Given the description of an element on the screen output the (x, y) to click on. 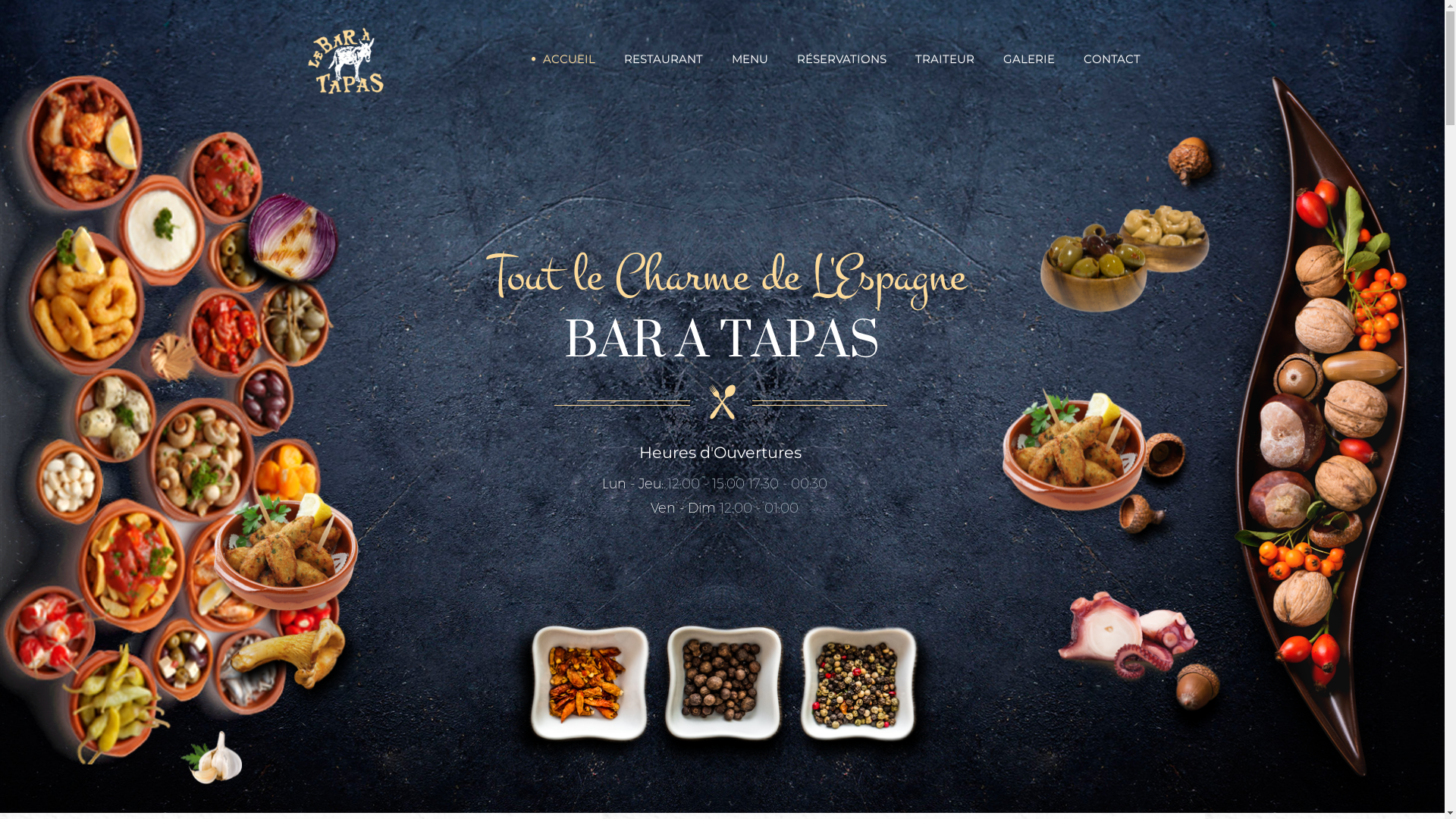
MENU Element type: text (749, 58)
CONTACT Element type: text (1111, 58)
RESTAURANT Element type: text (663, 58)
ACCUEIL Element type: text (567, 58)
TRAITEUR Element type: text (944, 58)
GALERIE Element type: text (1028, 58)
